Given the description of an element on the screen output the (x, y) to click on. 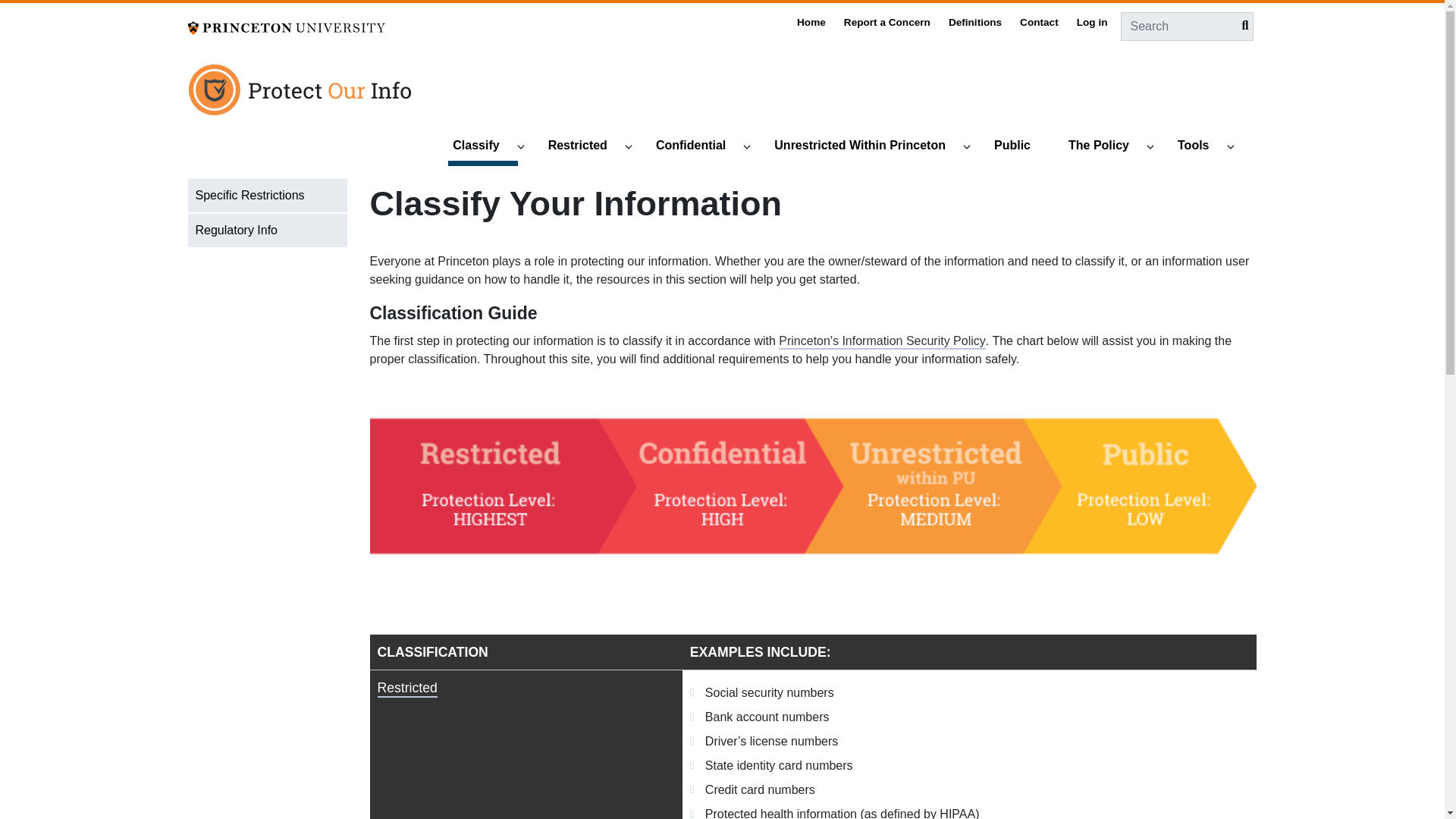
The Policy (1105, 146)
Tools (1200, 146)
Public (1019, 146)
Confidential (697, 146)
Submit (1231, 25)
Home (300, 95)
Princeton University (286, 26)
Restricted (584, 146)
Unrestricted Within Princeton (866, 146)
